Given the description of an element on the screen output the (x, y) to click on. 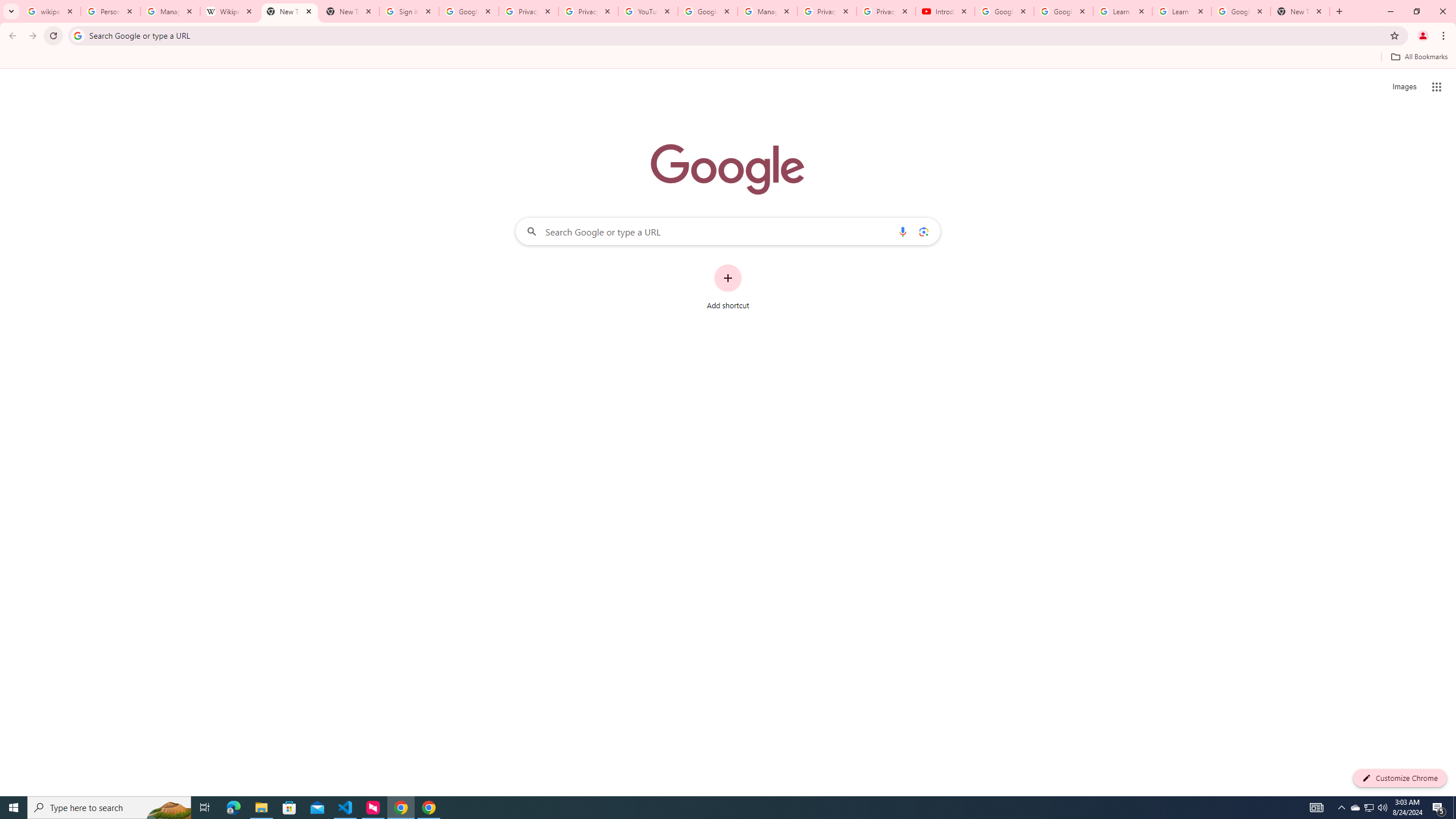
Manage your Location History - Google Search Help (170, 11)
Search Google or type a URL (727, 230)
Personalization & Google Search results - Google Search Help (110, 11)
Add shortcut (727, 287)
New Tab (289, 11)
